Given the description of an element on the screen output the (x, y) to click on. 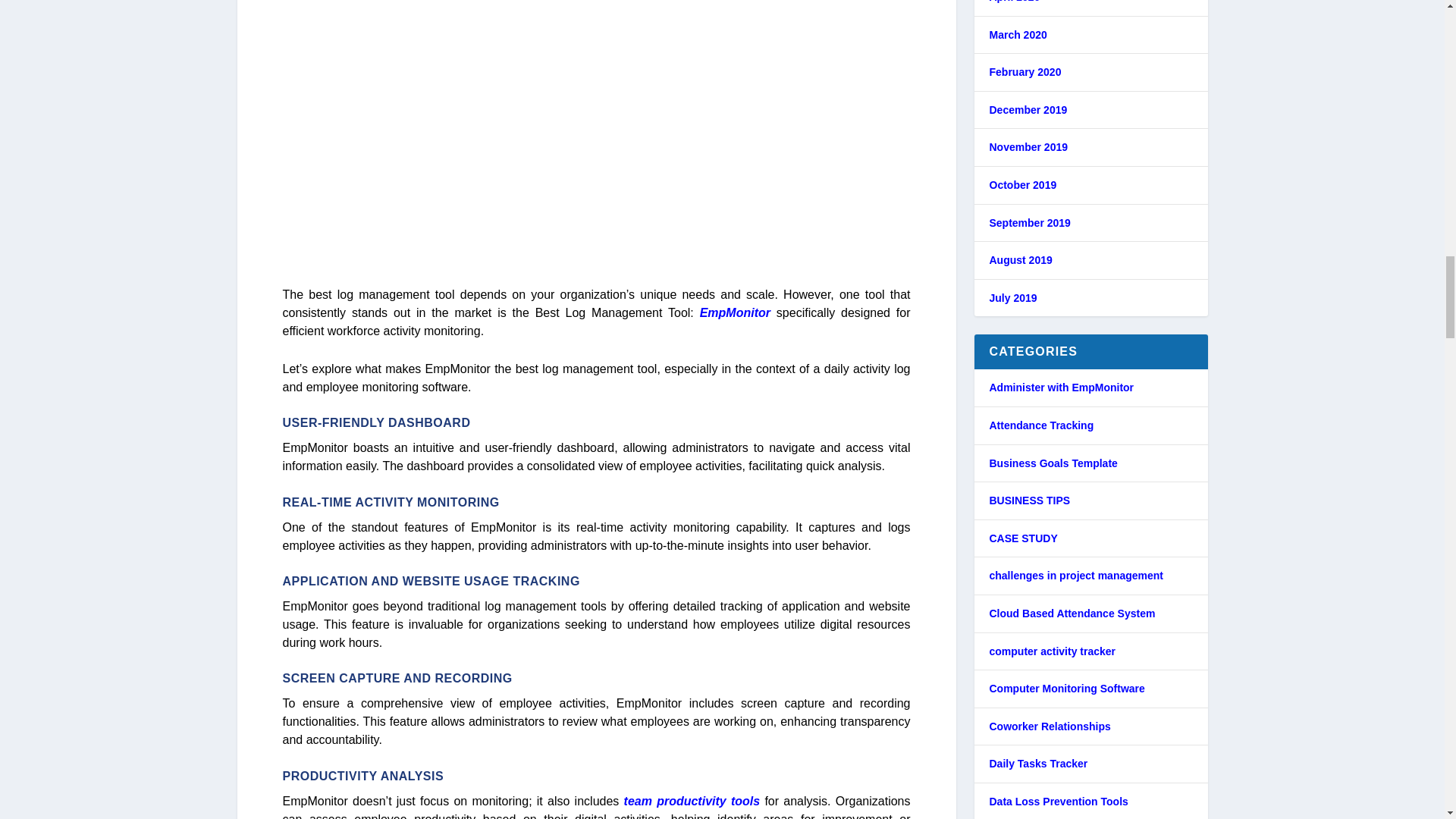
EmpMonitor (735, 312)
team productivity tools (692, 800)
